Given the description of an element on the screen output the (x, y) to click on. 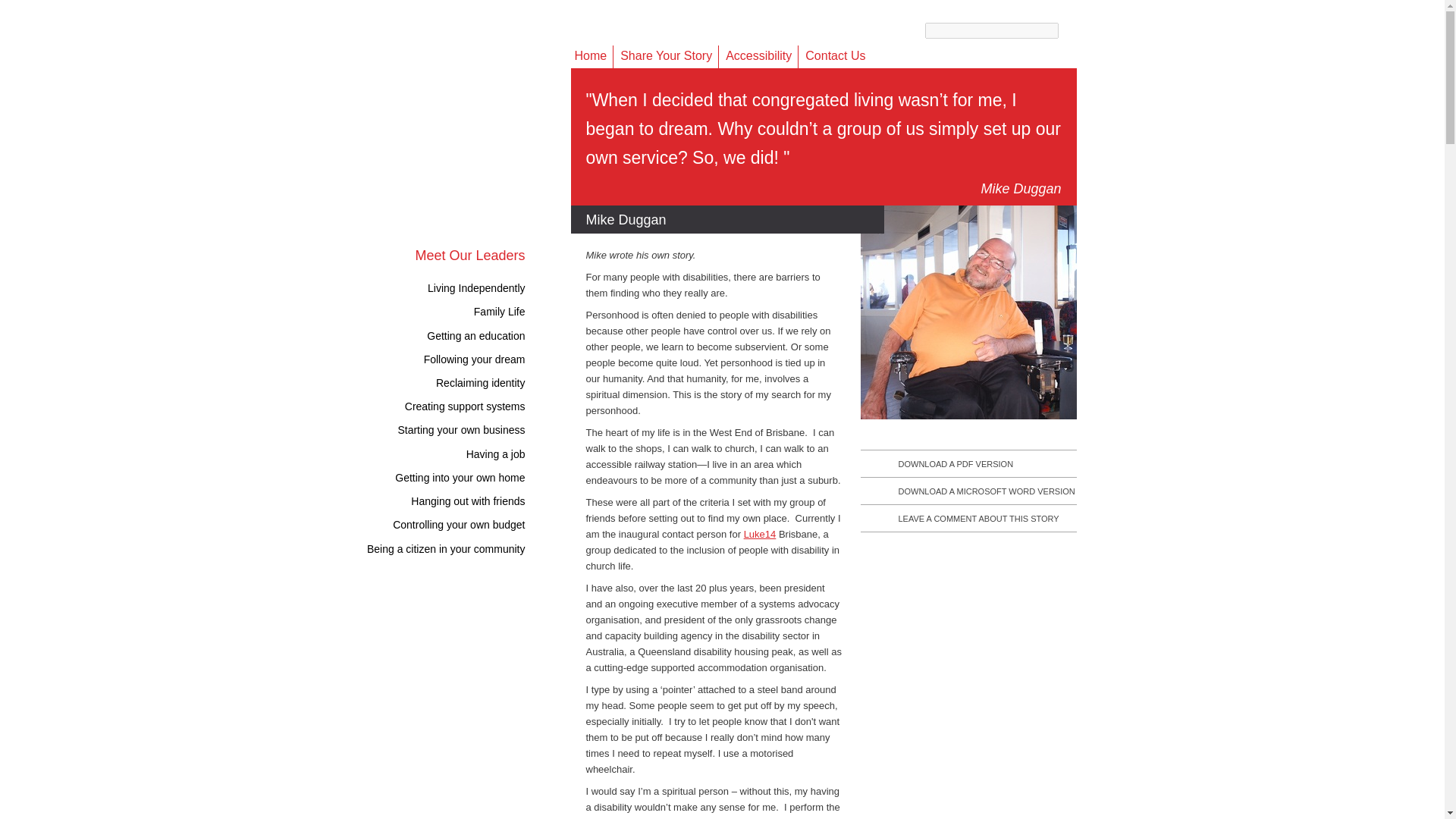
DOWNLOAD A PDF VERSION (955, 463)
Accessibility (758, 55)
Contact Us (834, 55)
Being a citizen in your community (457, 548)
Creating support systems (476, 406)
Starting your own business (472, 429)
Following your dream (485, 358)
Controlling your own budget (470, 524)
Luke14 (760, 533)
Family Life (511, 311)
